Given the description of an element on the screen output the (x, y) to click on. 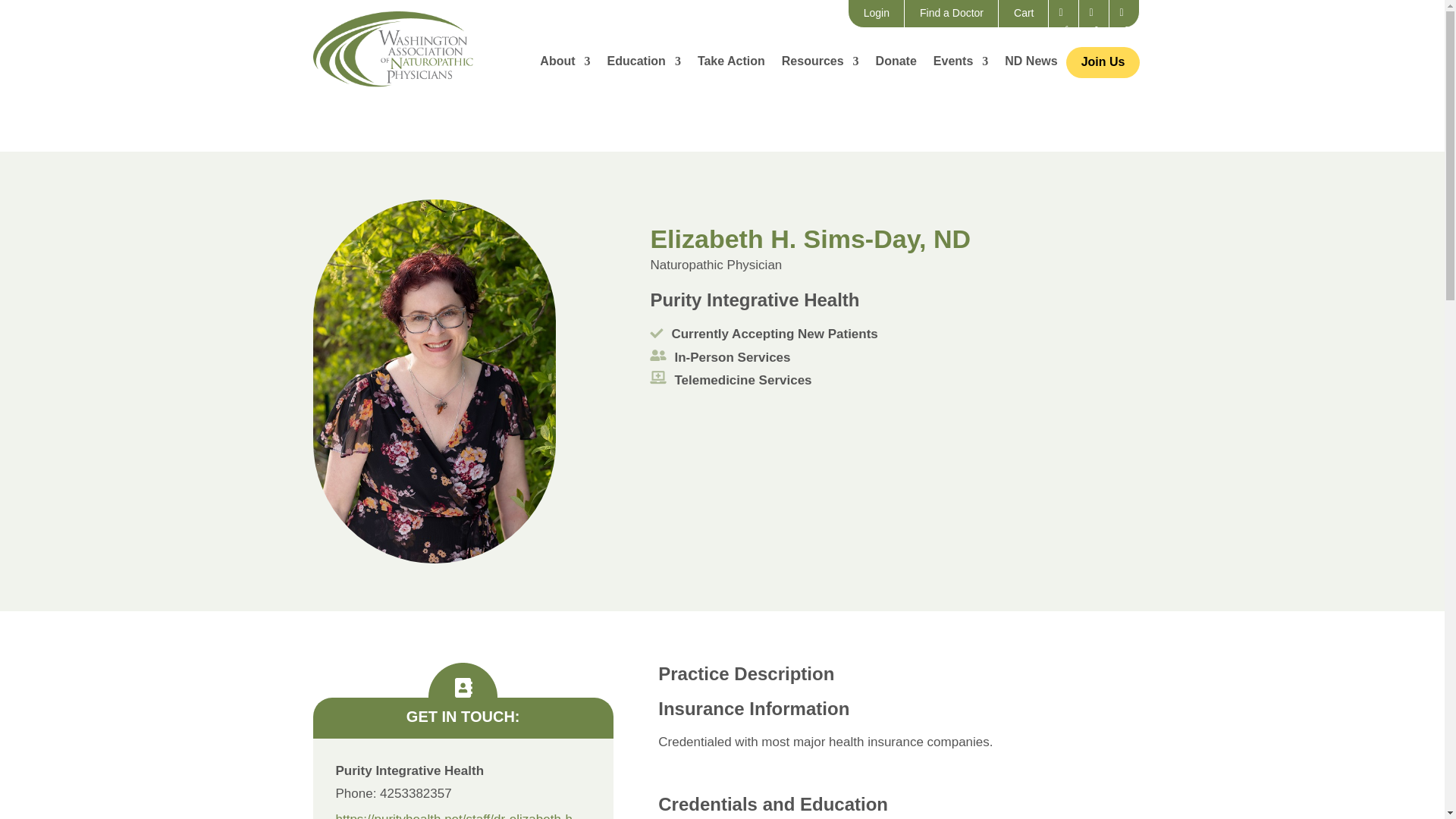
facebook (1063, 13)
wanp-logo (392, 48)
About (564, 66)
Take Action (731, 66)
get-in-touch-icon (462, 679)
ND News (1030, 66)
Linkedin (1123, 13)
Login (876, 13)
Find a Doctor (950, 13)
Events (960, 66)
Education (644, 66)
Join Us (1102, 61)
Cart (1023, 13)
Resources (820, 66)
Instagram (1093, 13)
